Given the description of an element on the screen output the (x, y) to click on. 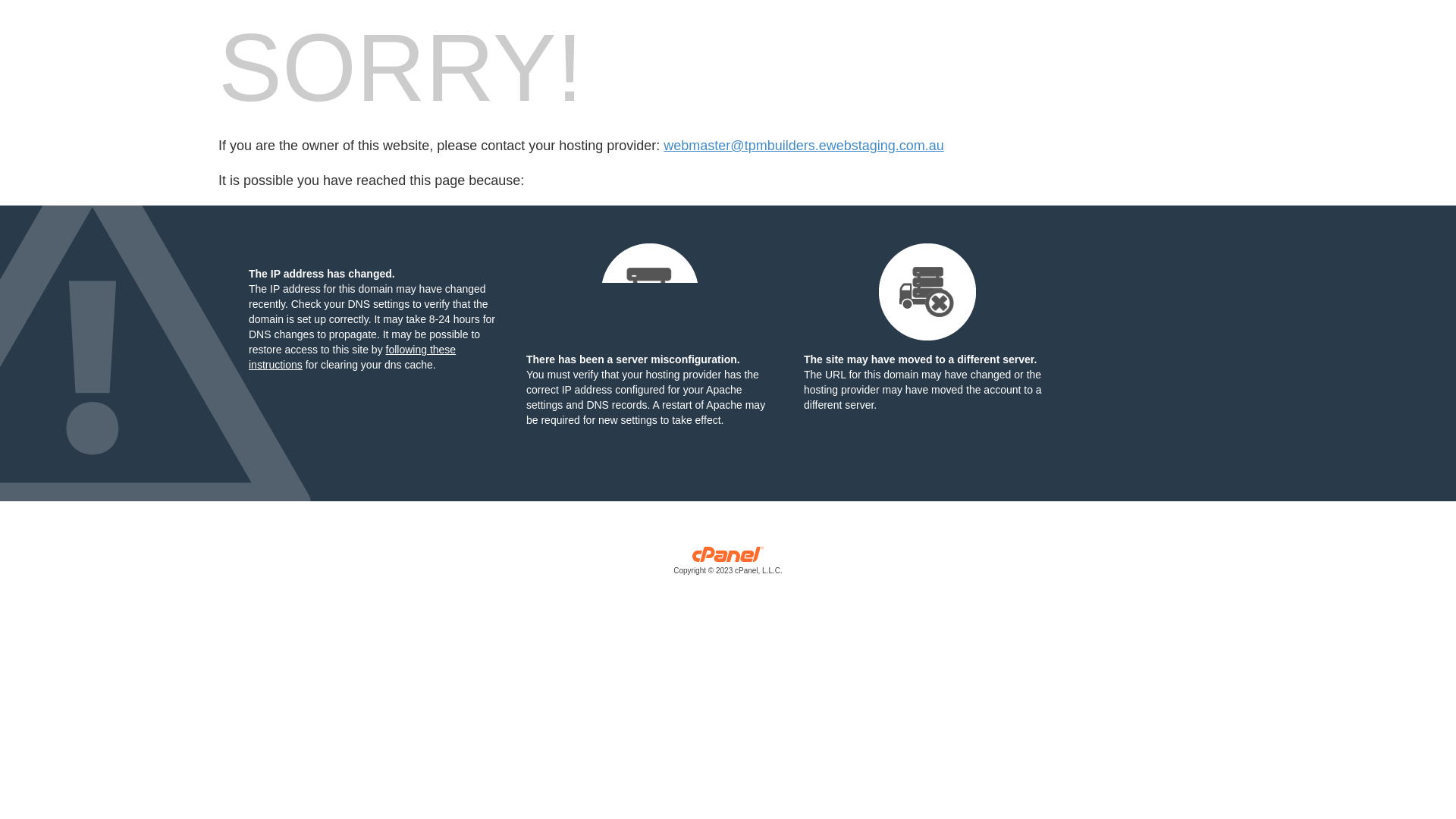
following these instructions Element type: text (351, 356)
webmaster@tpmbuilders.ewebstaging.com.au Element type: text (803, 145)
